Given the description of an element on the screen output the (x, y) to click on. 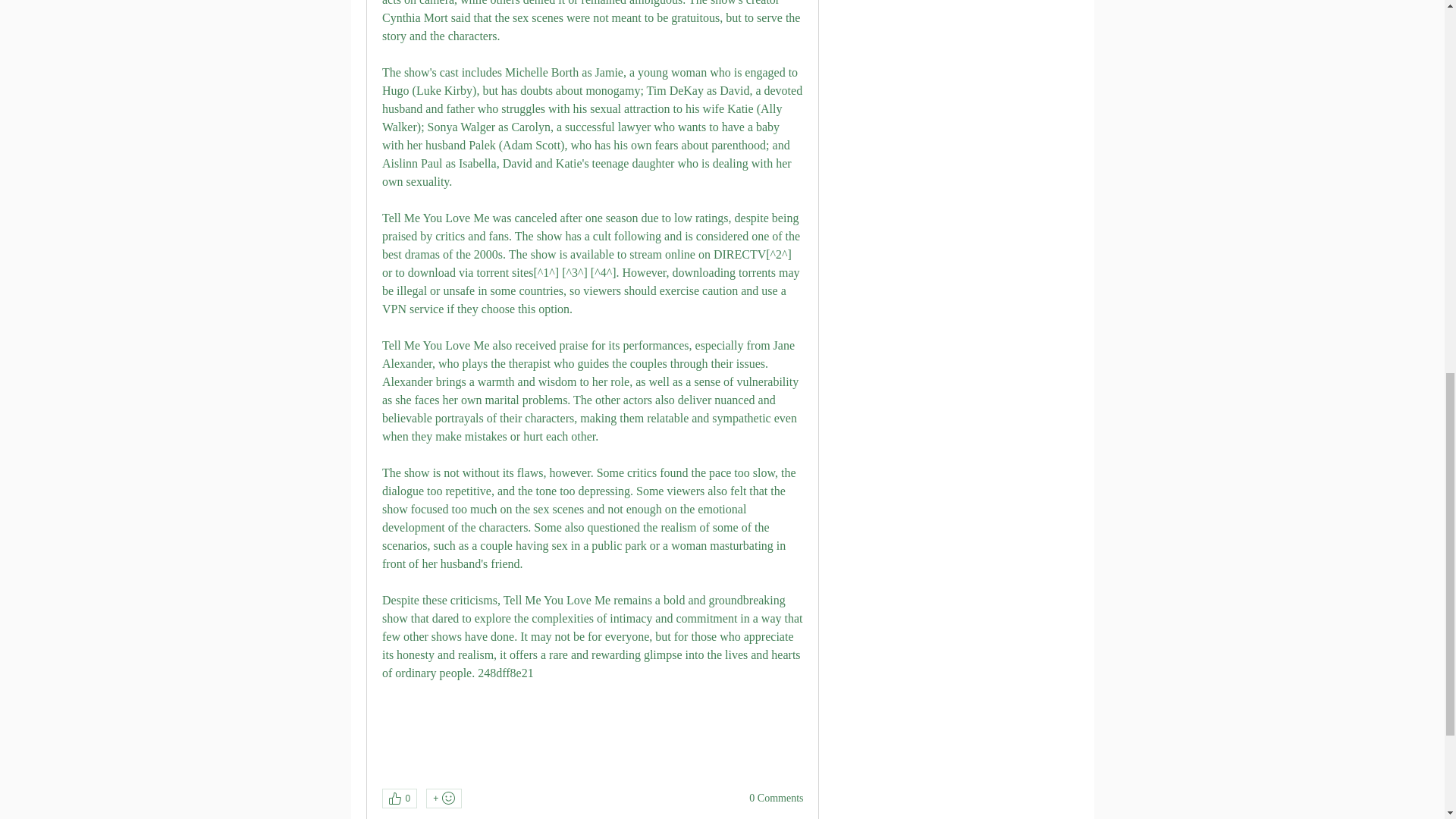
0 Comments (776, 798)
